Given the description of an element on the screen output the (x, y) to click on. 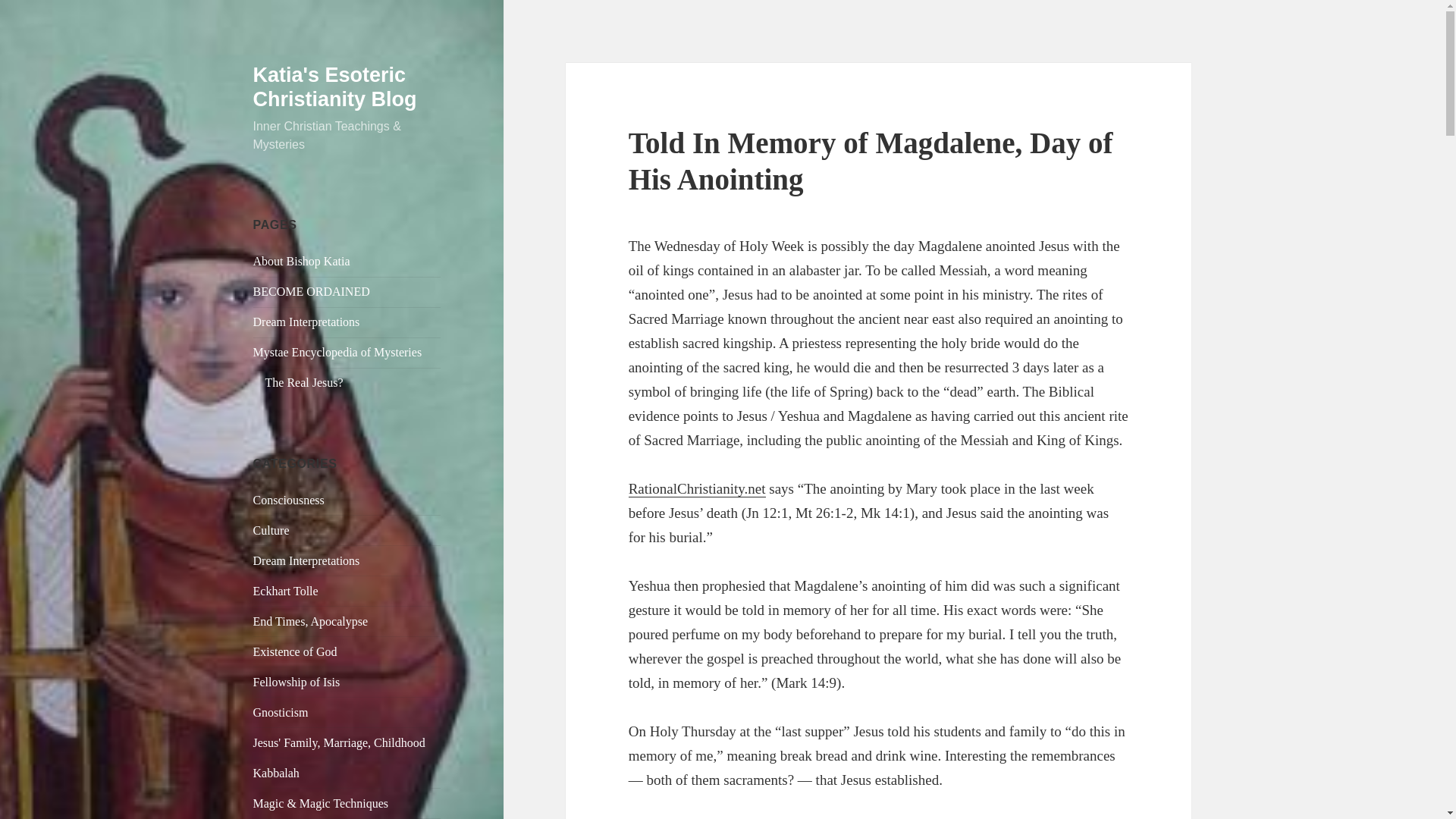
Dream Interpretations (306, 560)
Existence of God (295, 651)
Fellowship of Isis (296, 681)
Culture (271, 530)
Katia's Esoteric Christianity Blog (334, 86)
Gnosticism (280, 712)
BECOME ORDAINED (311, 291)
About Bishop Katia (301, 260)
Dream Interpretations (306, 321)
Consciousness (288, 499)
Kabbalah (276, 772)
Jesus' Family, Marriage, Childhood (339, 742)
The Real Jesus? (303, 382)
End Times, Apocalypse (310, 621)
Mystae Encyclopedia of Mysteries (337, 351)
